Given the description of an element on the screen output the (x, y) to click on. 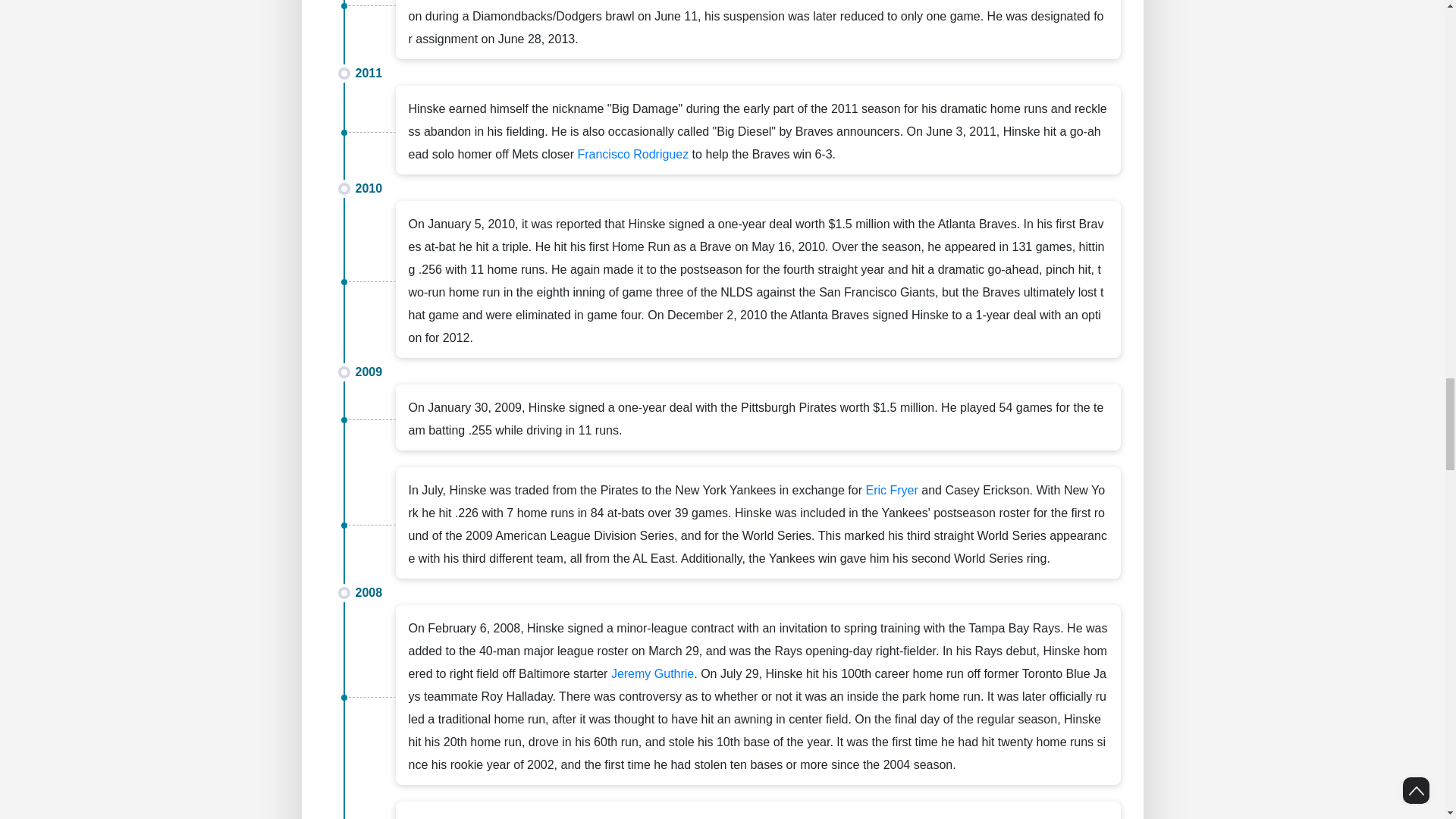
Eric Fryer (890, 490)
Jeremy Guthrie (652, 673)
Brad Lidge (1026, 818)
Francisco Rodriguez (632, 154)
